Given the description of an element on the screen output the (x, y) to click on. 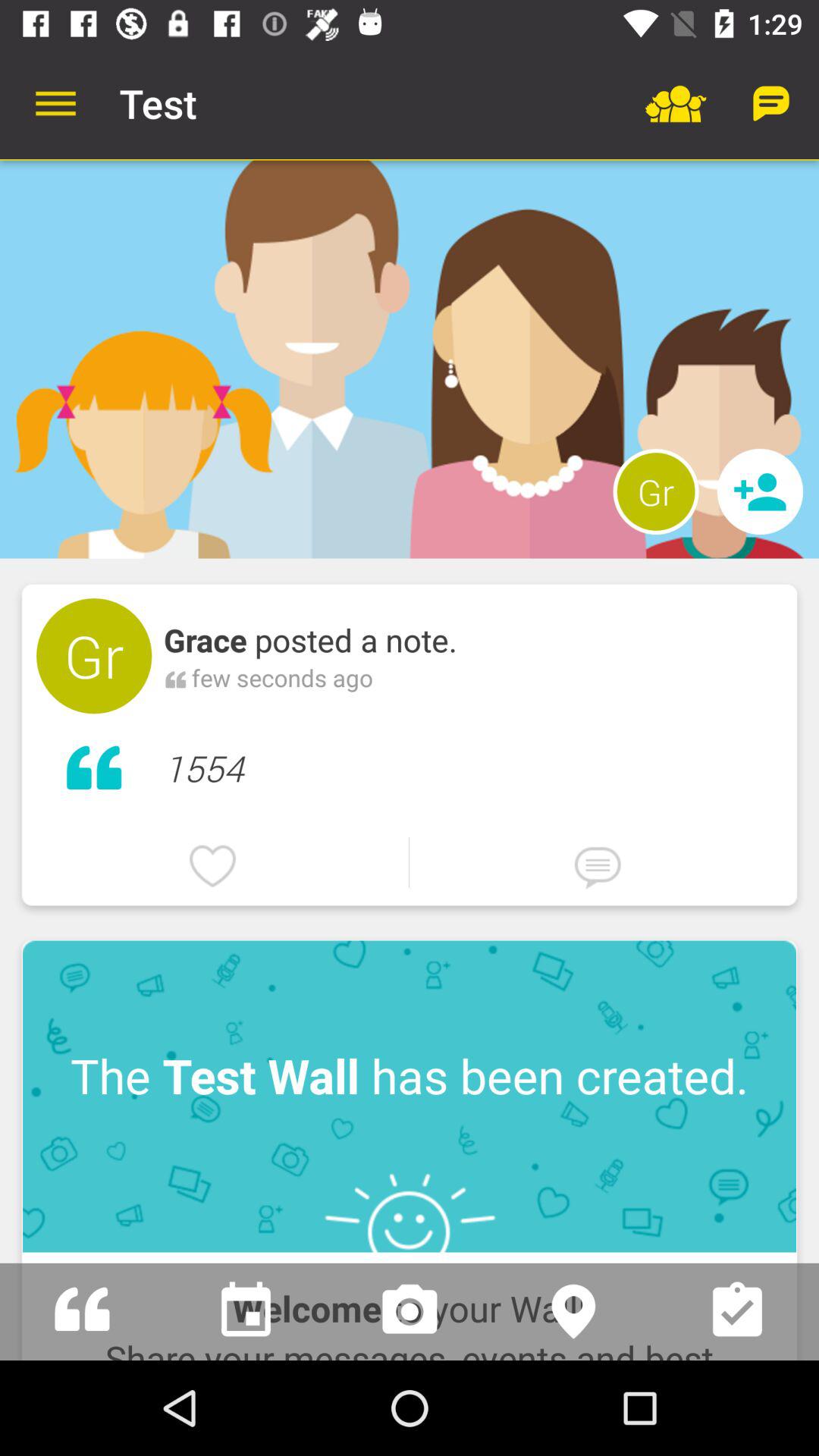
correct (737, 1311)
